Given the description of an element on the screen output the (x, y) to click on. 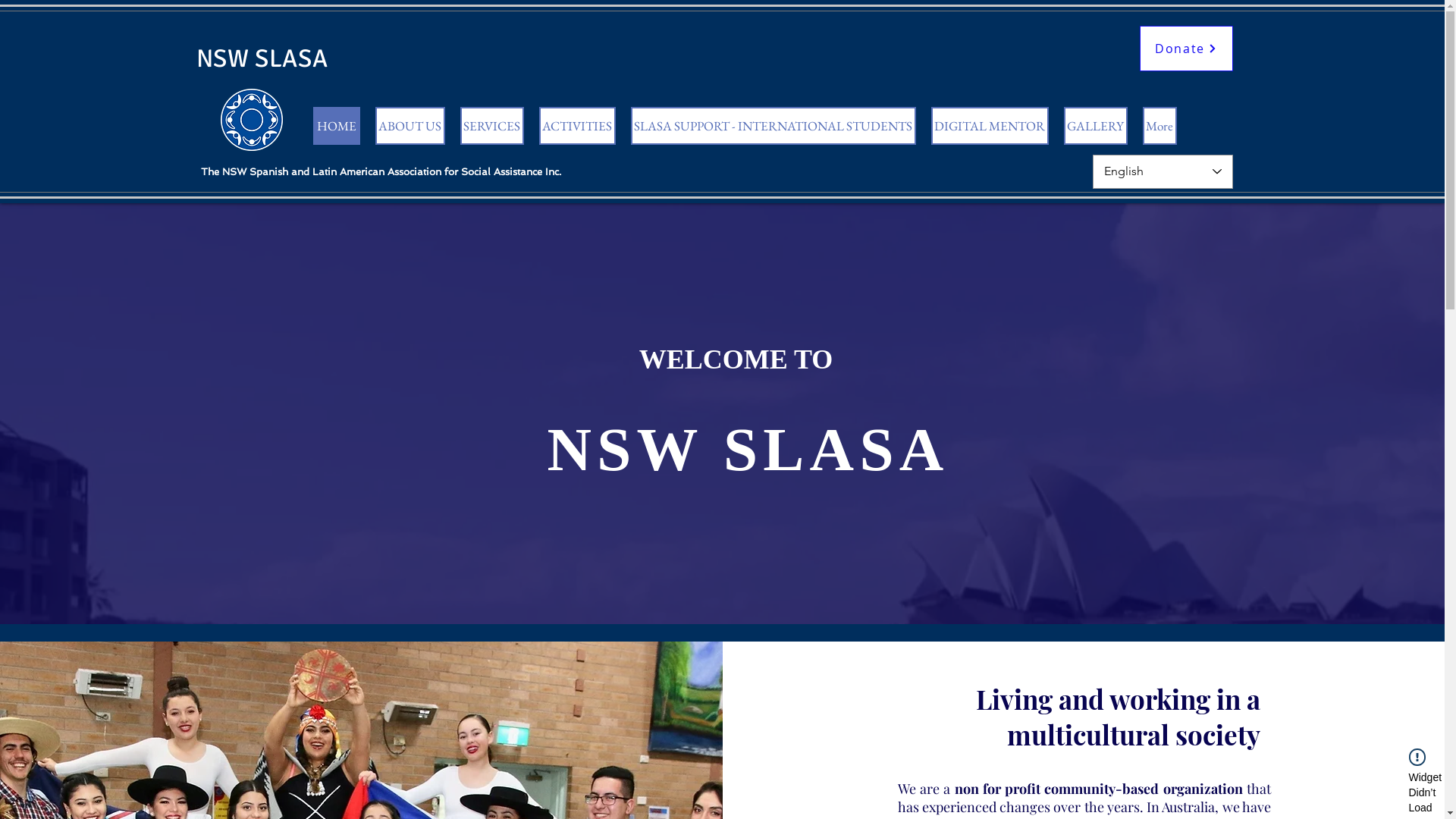
Donate Element type: text (1185, 48)
DIGITAL MENTOR Element type: text (989, 125)
ABOUT US Element type: text (409, 125)
HOME Element type: text (335, 125)
ACTIVITIES Element type: text (576, 125)
SLASA SUPPORT - INTERNATIONAL STUDENTS Element type: text (773, 125)
GALLERY Element type: text (1094, 125)
SERVICES Element type: text (491, 125)
NSW SLASA Element type: text (261, 57)
